Given the description of an element on the screen output the (x, y) to click on. 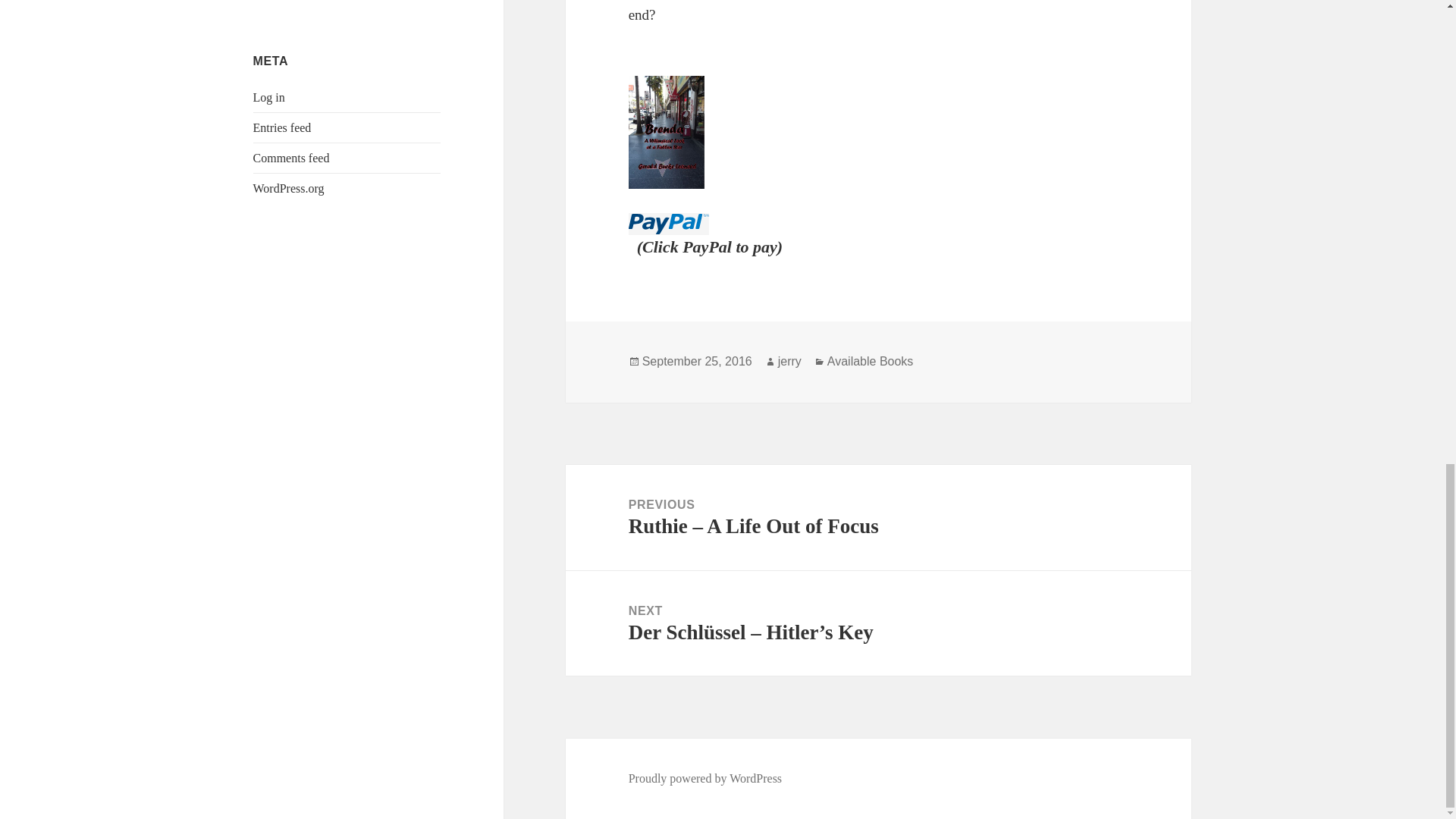
jerry (789, 361)
Log in (269, 97)
WordPress.org (288, 187)
Proudly powered by WordPress (704, 778)
Available Books (870, 361)
Comments feed (291, 157)
Entries feed (282, 127)
September 25, 2016 (697, 361)
